Given the description of an element on the screen output the (x, y) to click on. 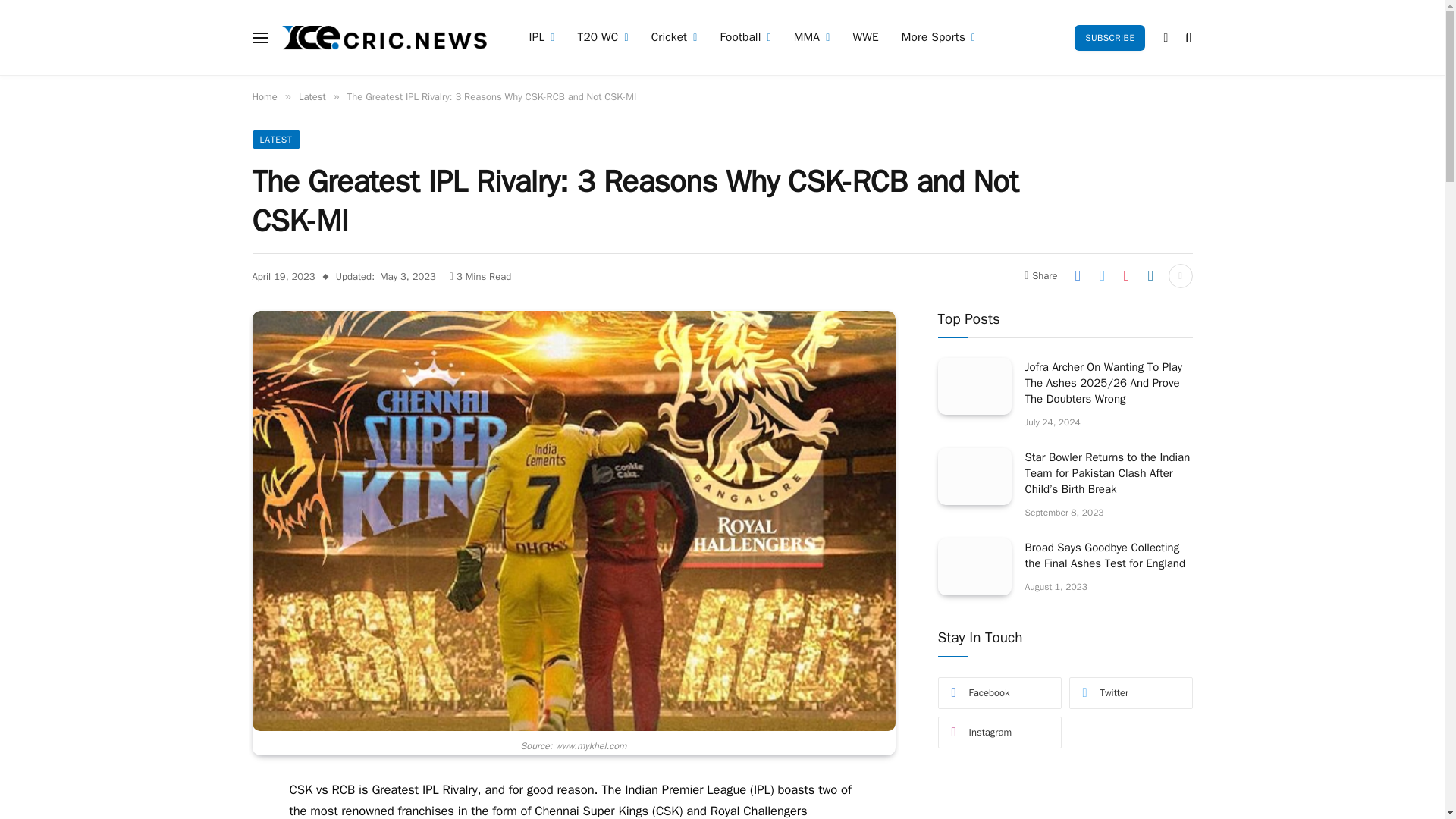
Latest Sports News (385, 38)
